Given the description of an element on the screen output the (x, y) to click on. 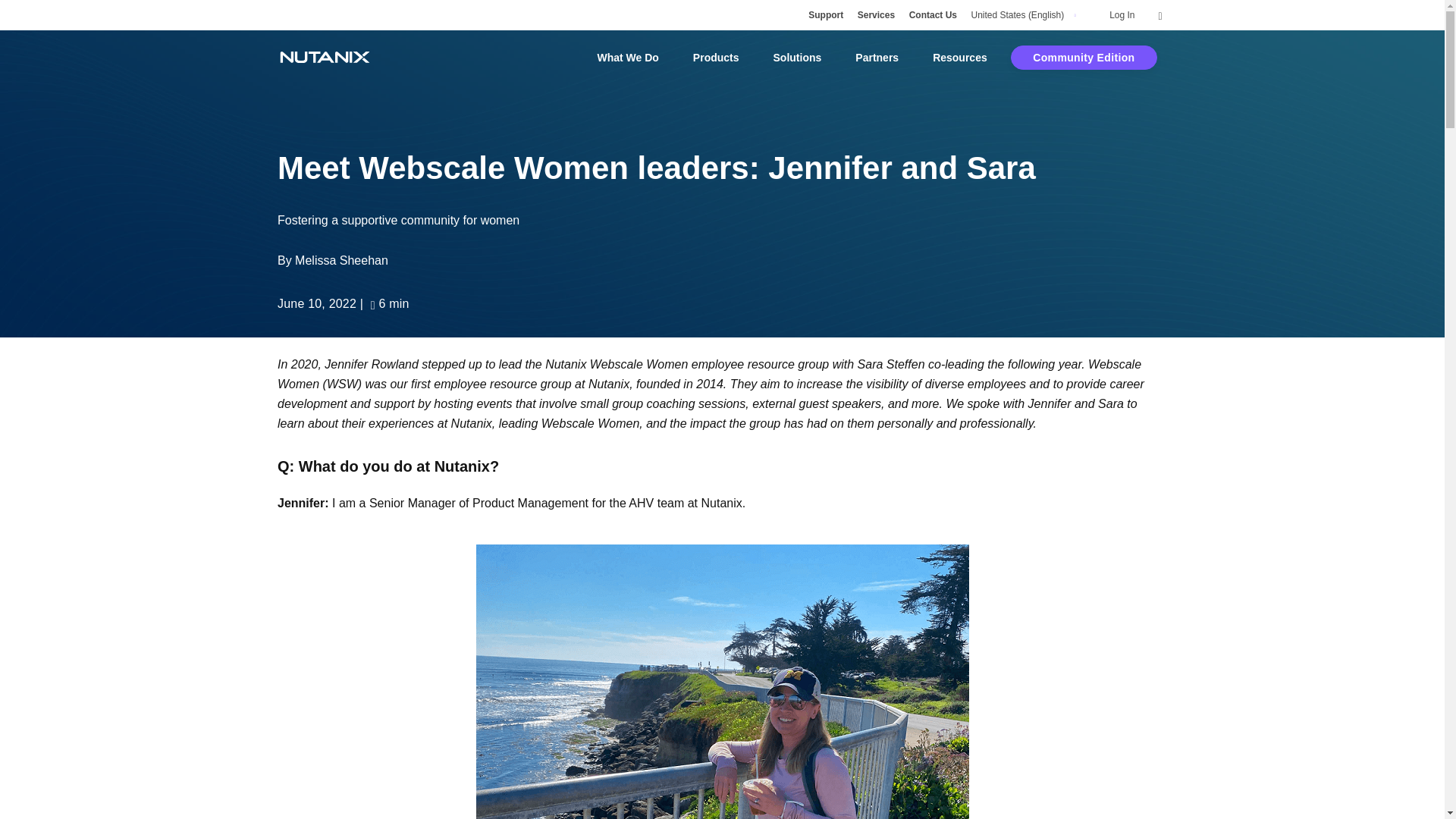
Services (876, 15)
Products (716, 57)
Contact Us (932, 15)
Support (825, 15)
What We Do (627, 57)
